Given the description of an element on the screen output the (x, y) to click on. 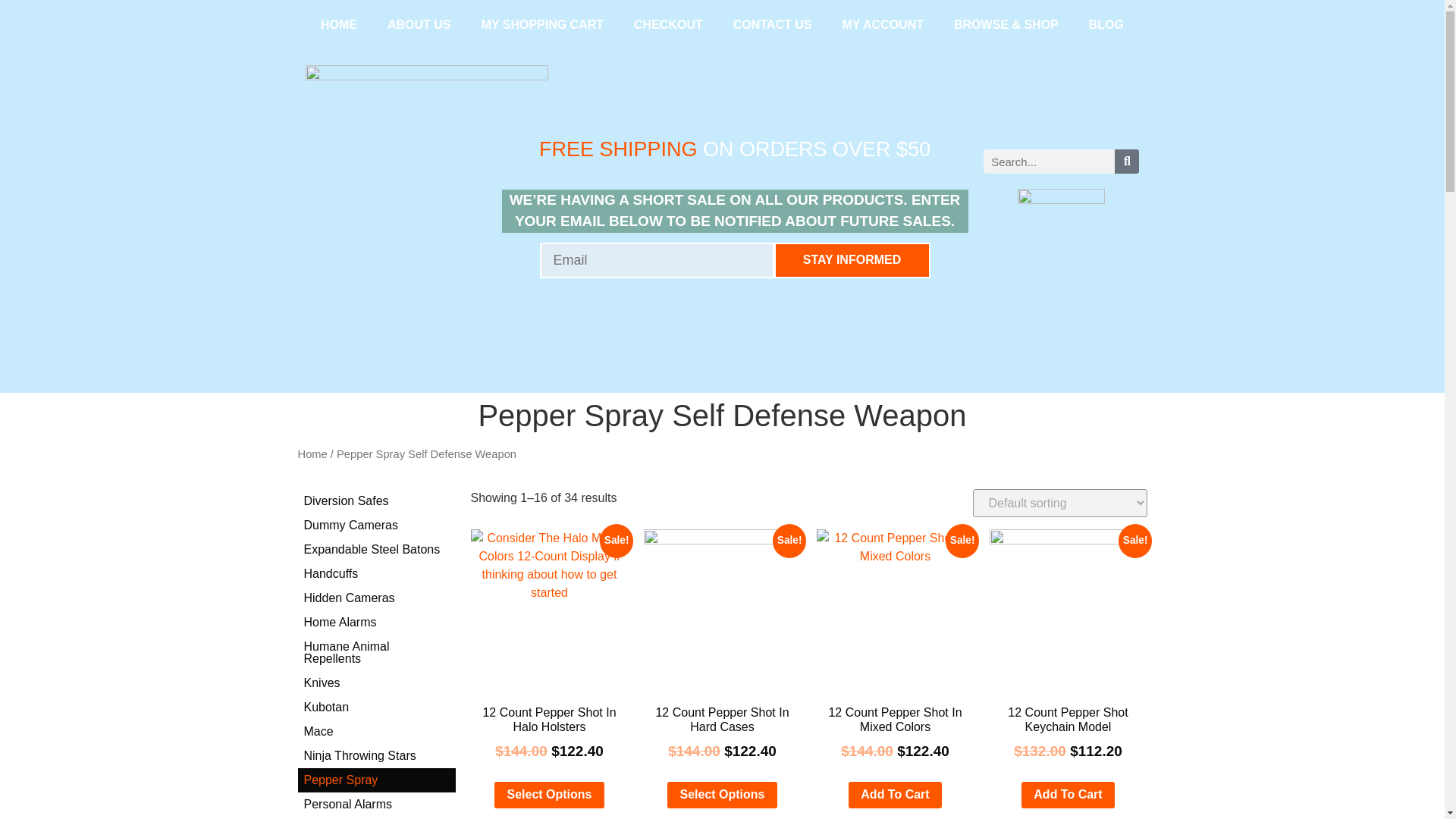
Mace (375, 731)
ABOUT US (418, 24)
Knives (375, 682)
Home (311, 453)
CONTACT US (772, 24)
MY ACCOUNT (883, 24)
Humane Animal Repellents (375, 652)
HOME (338, 24)
Kubotan (375, 707)
Diversion Safes (375, 500)
